Given the description of an element on the screen output the (x, y) to click on. 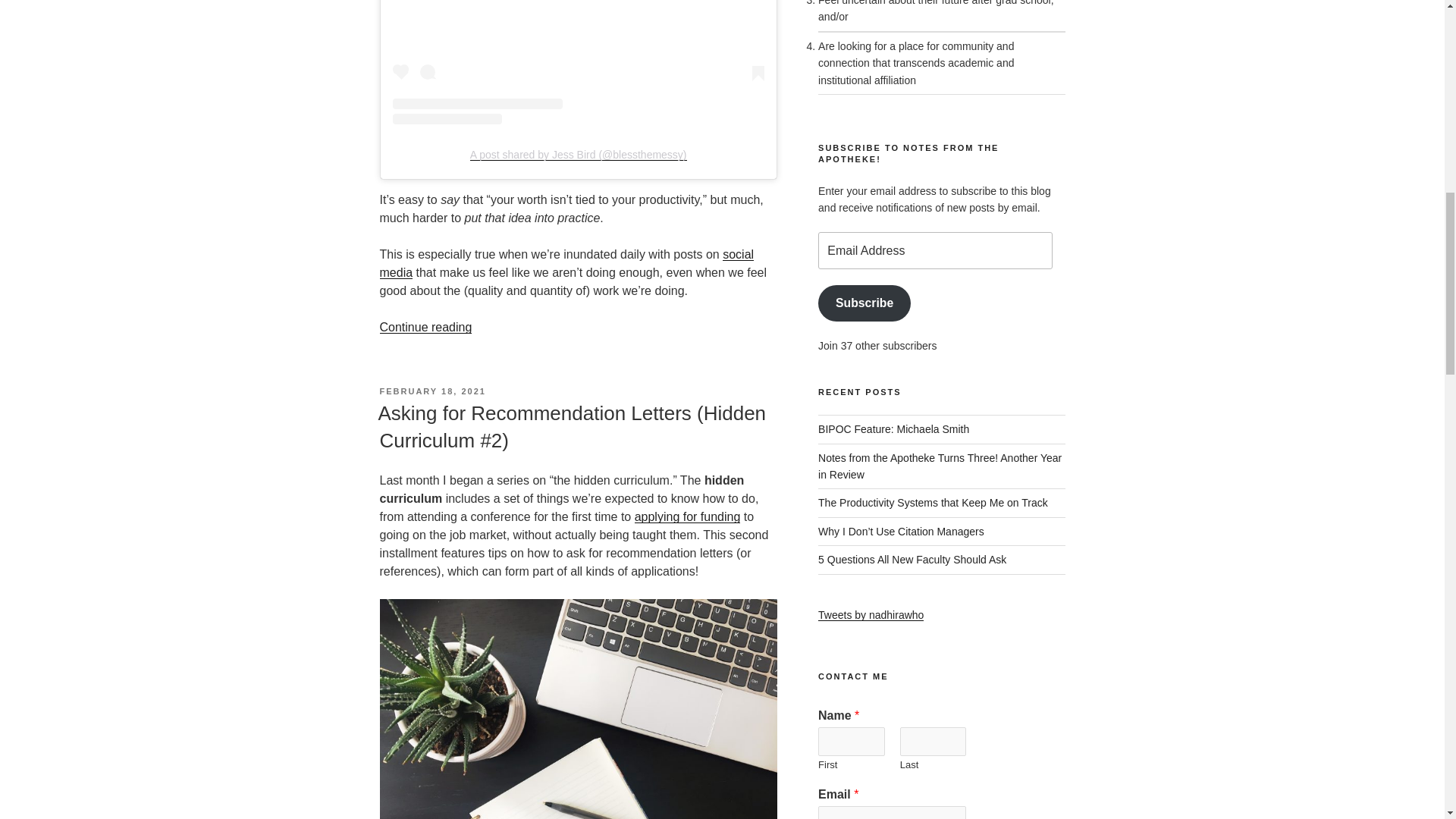
Tweets by nadhirawho (870, 614)
FEBRUARY 18, 2021 (431, 390)
applying for funding (687, 516)
View this post on Instagram (578, 61)
Subscribe (864, 303)
BIPOC Feature: Michaela Smith (893, 428)
The Productivity Systems that Keep Me on Track (933, 502)
Notes from the Apotheke Turns Three! Another Year in Review (939, 466)
social media (566, 263)
5 Questions All New Faculty Should Ask (912, 559)
